Given the description of an element on the screen output the (x, y) to click on. 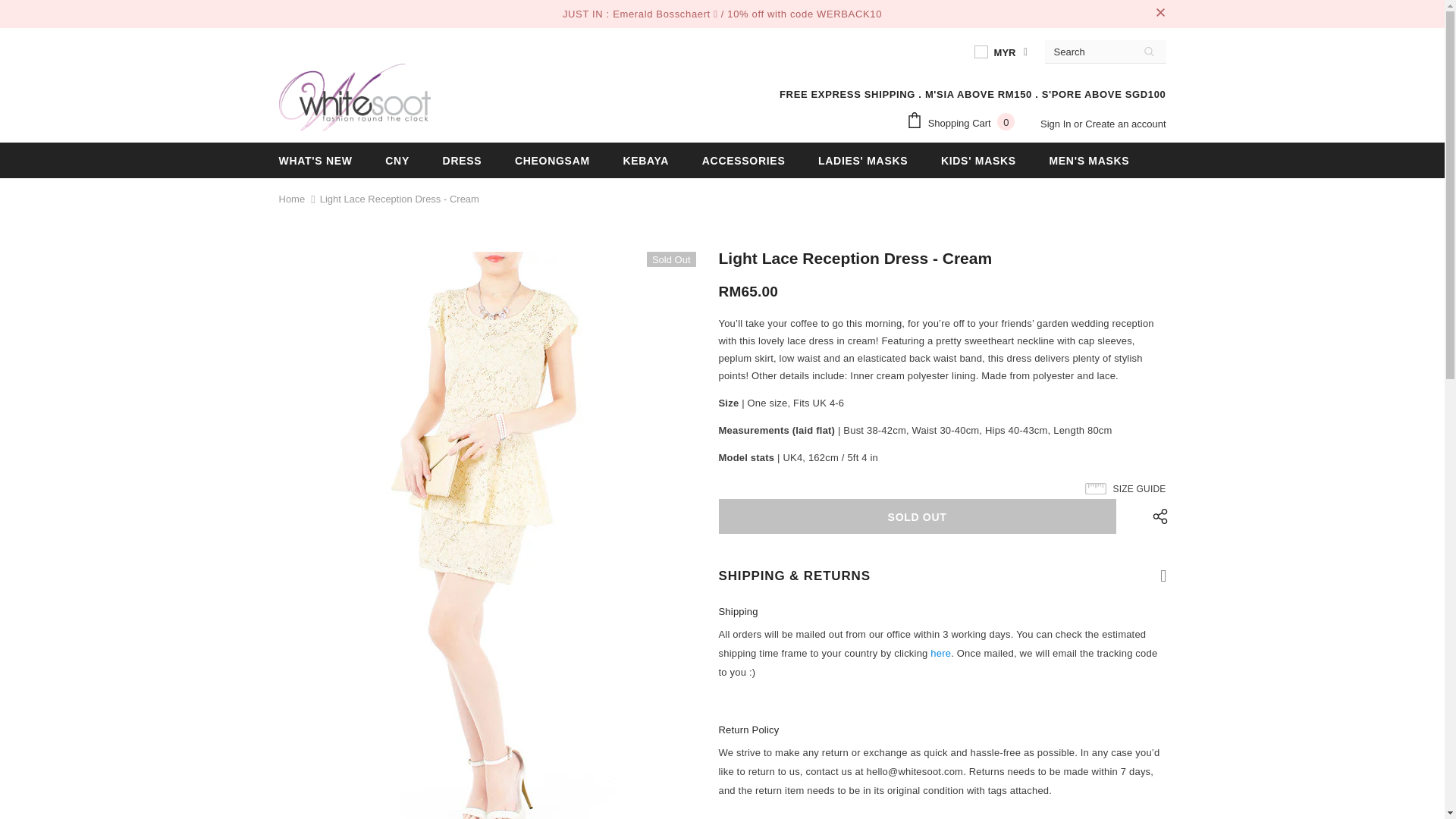
WHAT'S NEW (315, 160)
LADIES' MASKS (862, 160)
Home (292, 198)
Sold Out (917, 515)
CHEONGSAM (552, 160)
Sign In (1057, 123)
MEN'S MASKS (1088, 160)
KIDS' MASKS (978, 160)
KEBAYA (645, 160)
Create an account (1125, 123)
Cart (963, 122)
Logo (354, 97)
Shopping Cart 0 (963, 122)
DRESS (461, 160)
ACCESSORIES (743, 160)
